Given the description of an element on the screen output the (x, y) to click on. 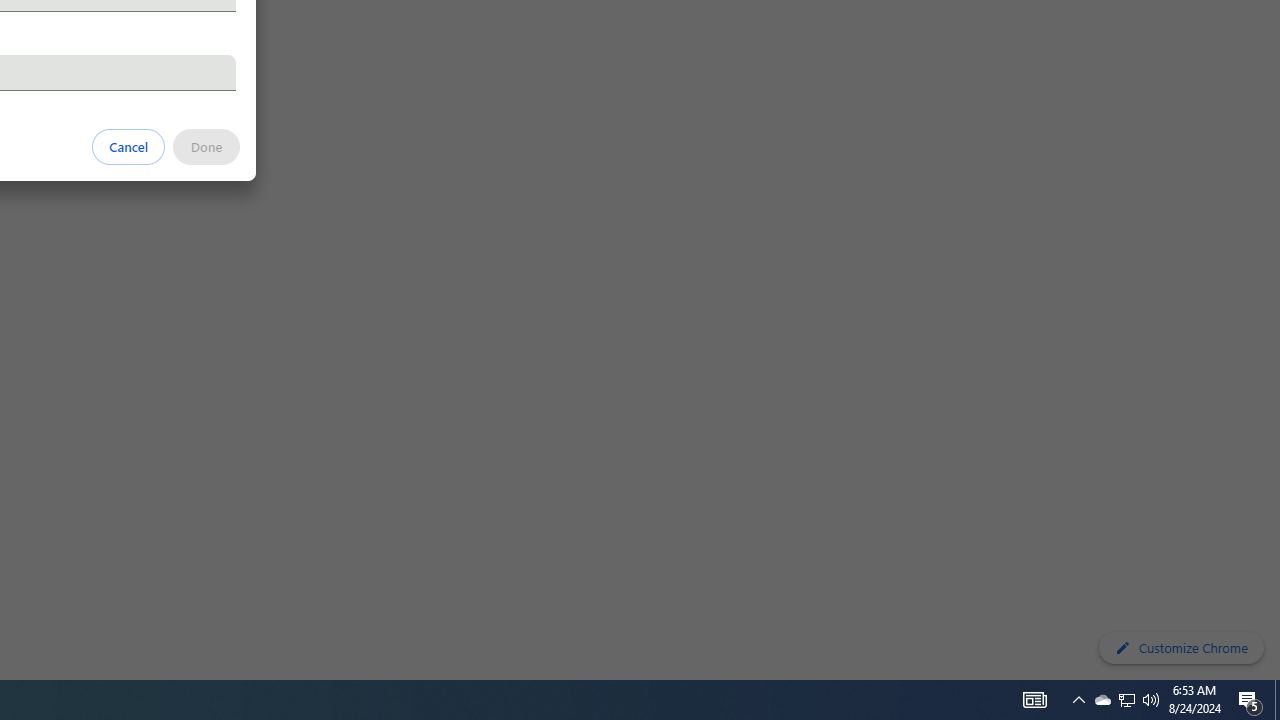
Cancel (129, 146)
Done (206, 146)
